Given the description of an element on the screen output the (x, y) to click on. 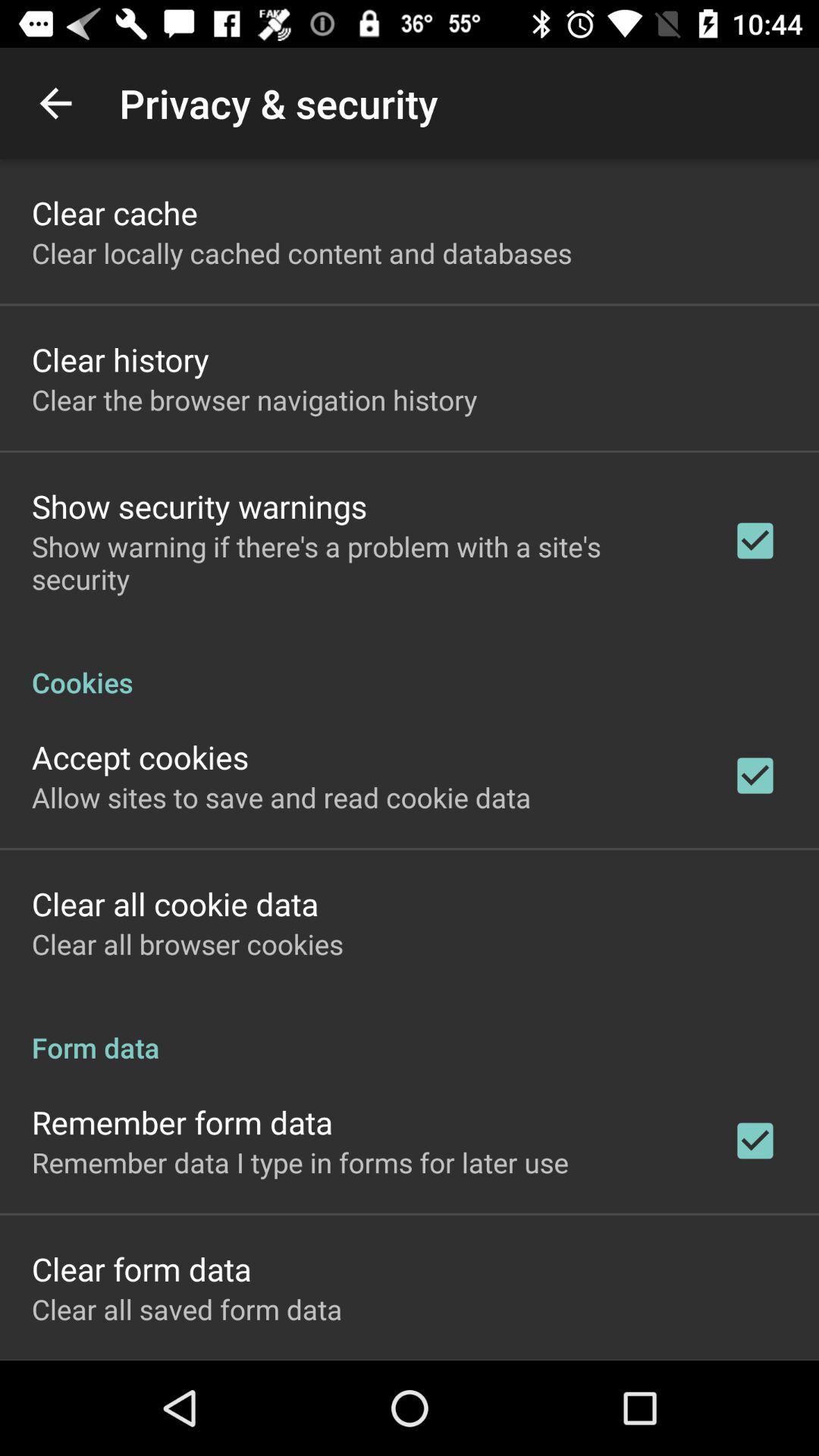
select the icon below the clear cache app (301, 252)
